Given the description of an element on the screen output the (x, y) to click on. 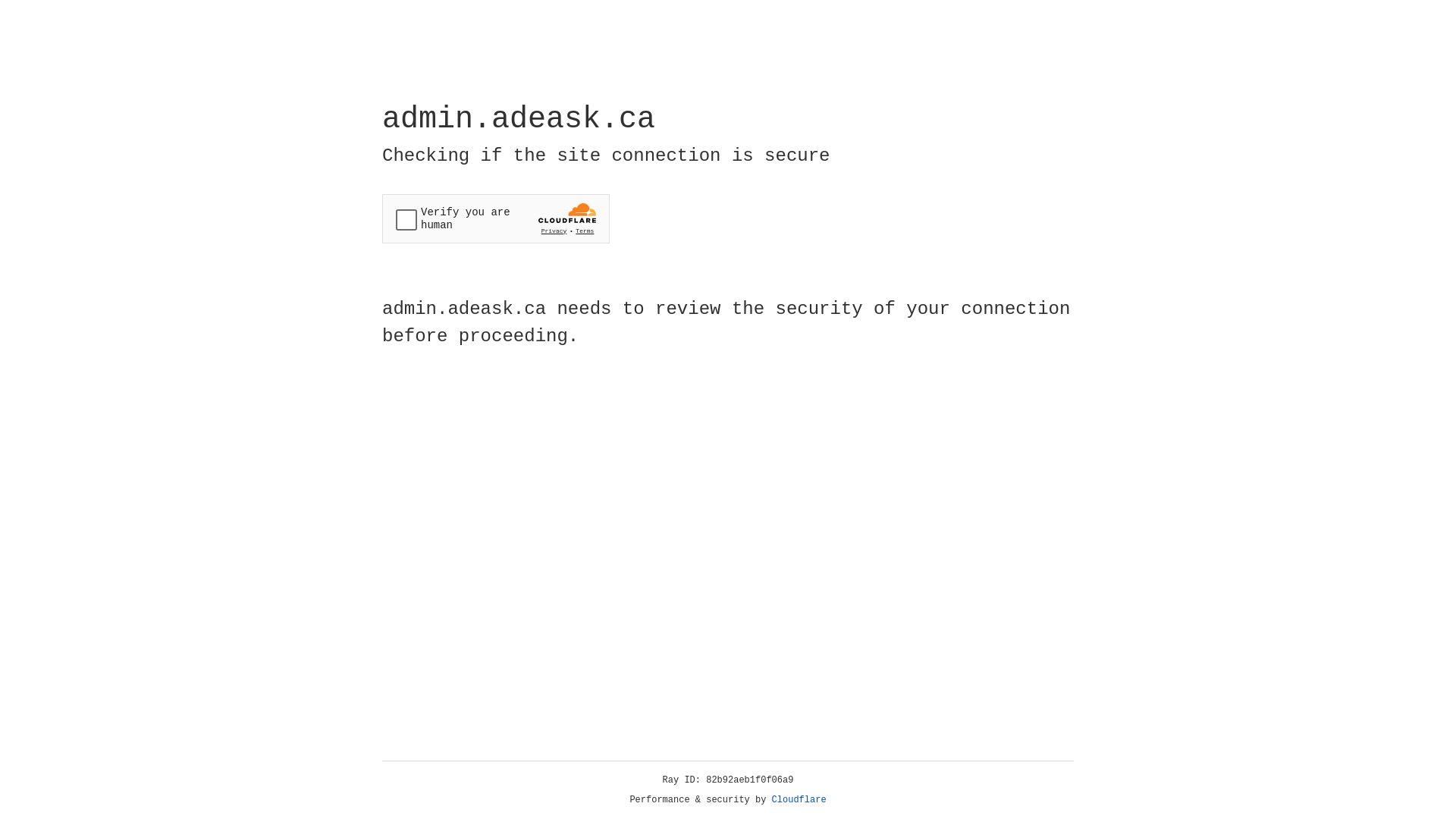
Widget containing a Cloudflare security challenge Element type: hover (495, 218)
Cloudflare Element type: text (798, 799)
